Given the description of an element on the screen output the (x, y) to click on. 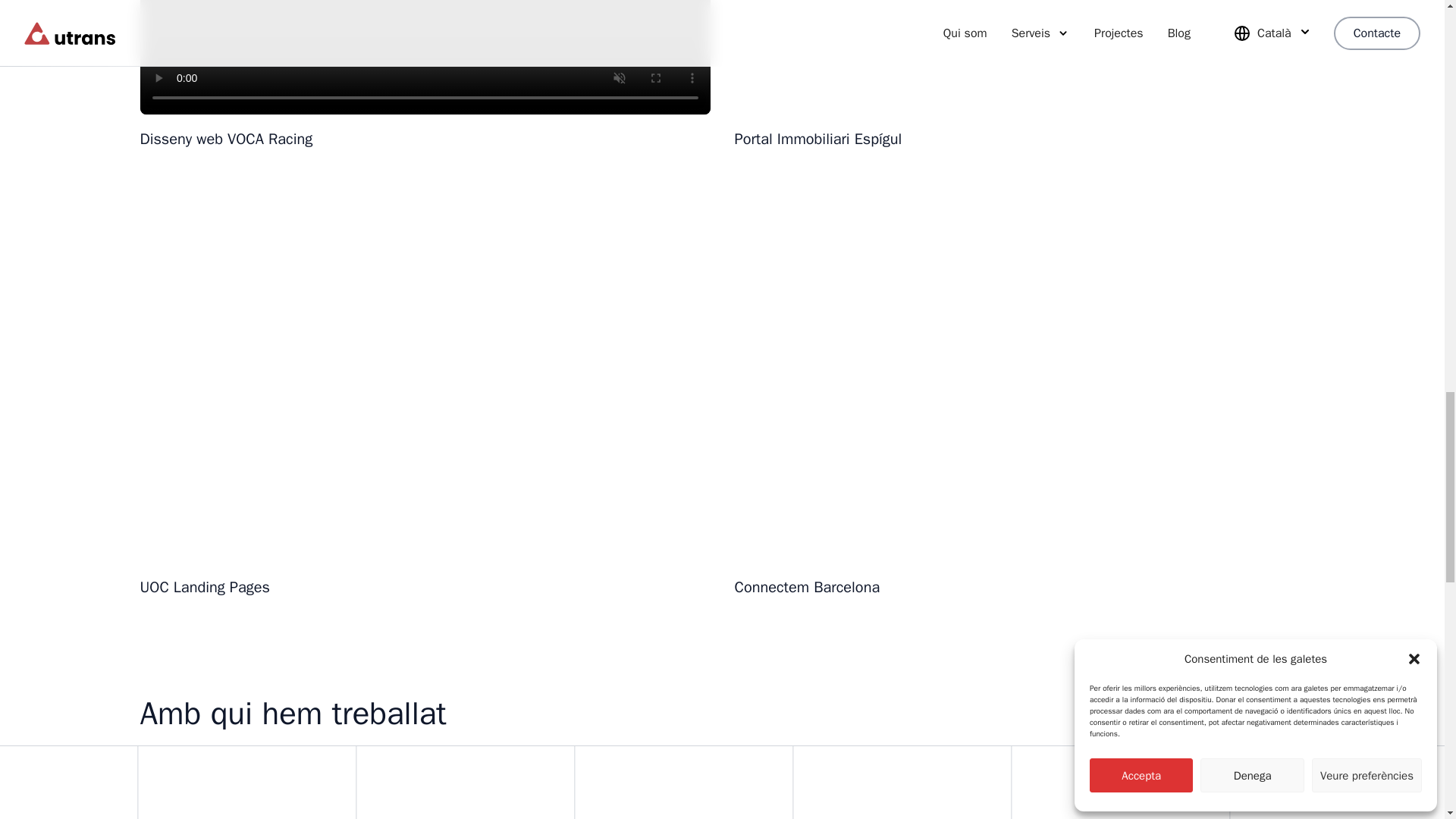
Disseny web VOCA Racing (383, 138)
Disseny web VOCA Racing (424, 57)
Disseny web VOCA Racing (424, 79)
